Given the description of an element on the screen output the (x, y) to click on. 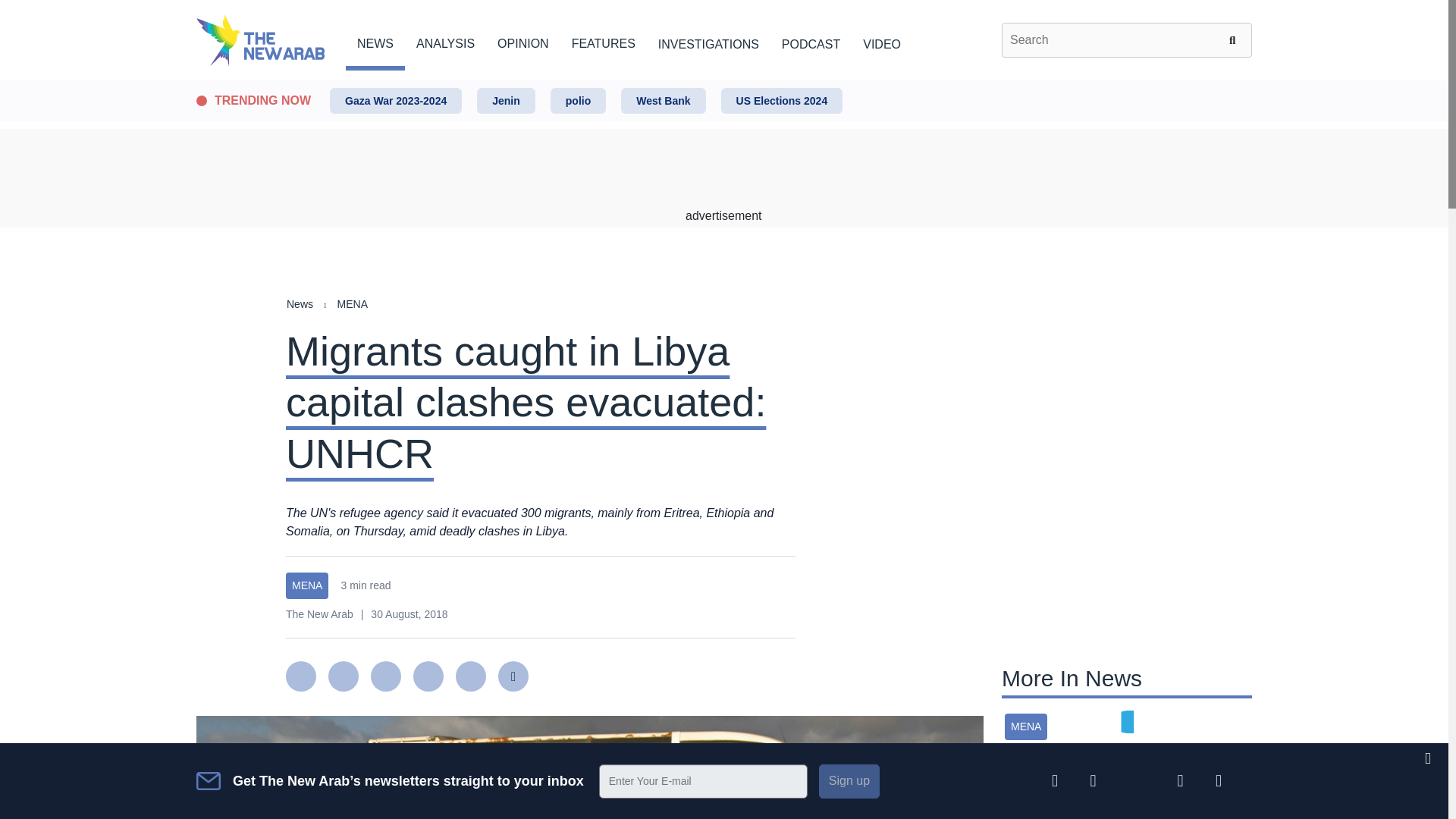
ANALYSIS (445, 41)
OPINION (523, 41)
NEWS (375, 41)
Skip to main content (724, 81)
Search (1234, 39)
